Given the description of an element on the screen output the (x, y) to click on. 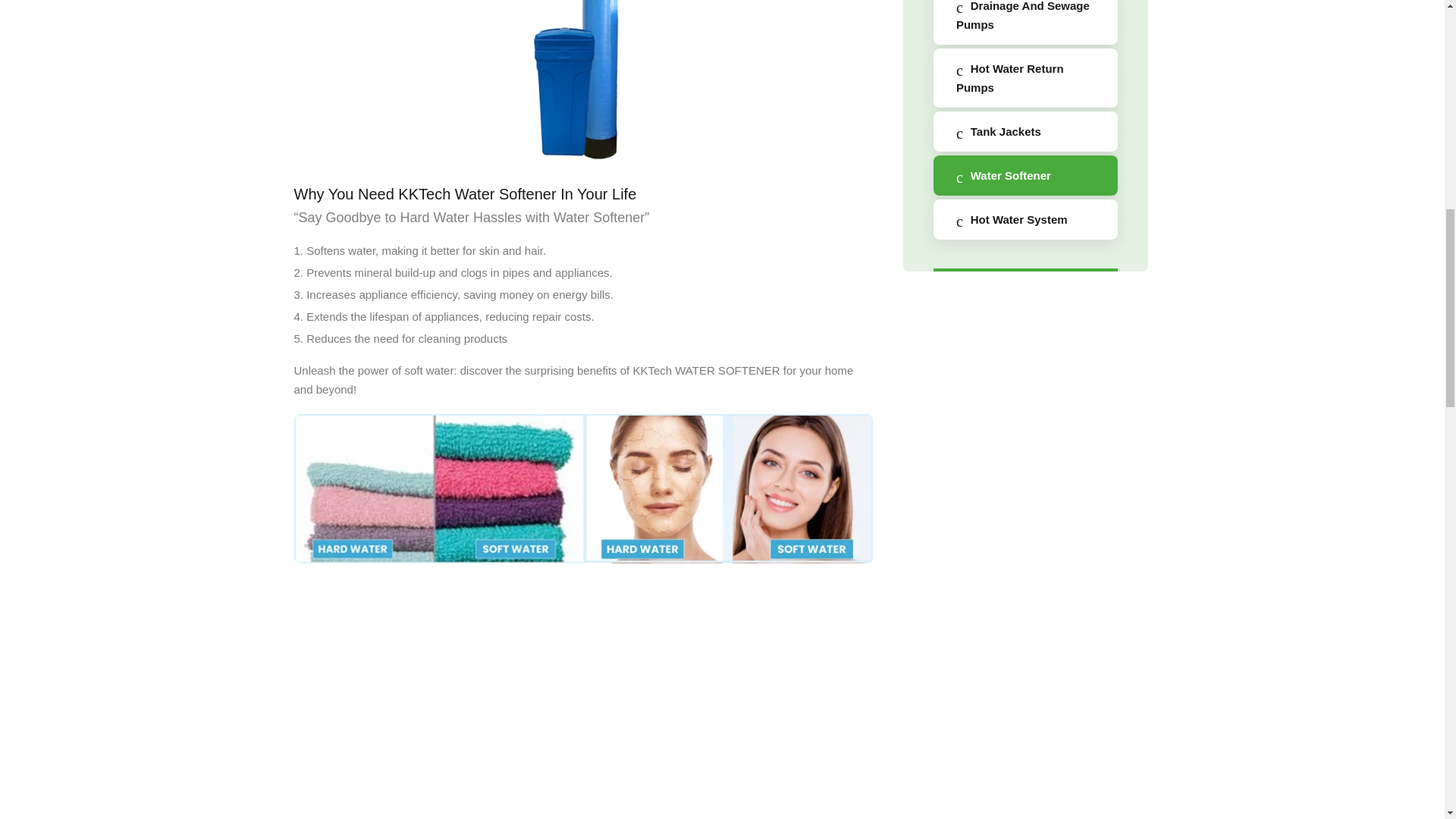
Drainage And Sewage Pumps (1025, 22)
Tank Jackets (1025, 131)
Water Softener (582, 81)
Hot Water Return Pumps (1025, 77)
Water Softener (1025, 175)
